Given the description of an element on the screen output the (x, y) to click on. 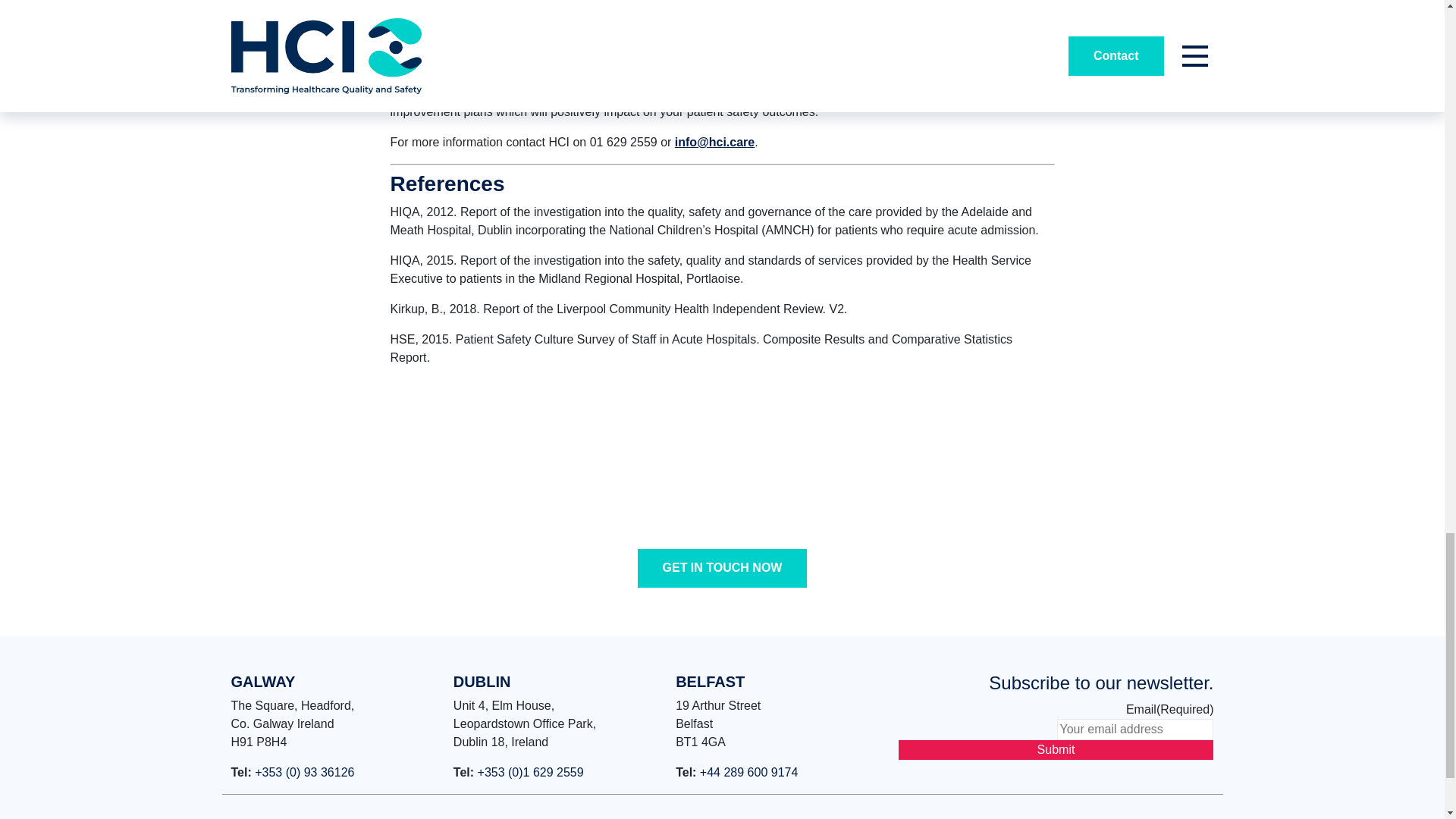
Submit (1055, 750)
